Given the description of an element on the screen output the (x, y) to click on. 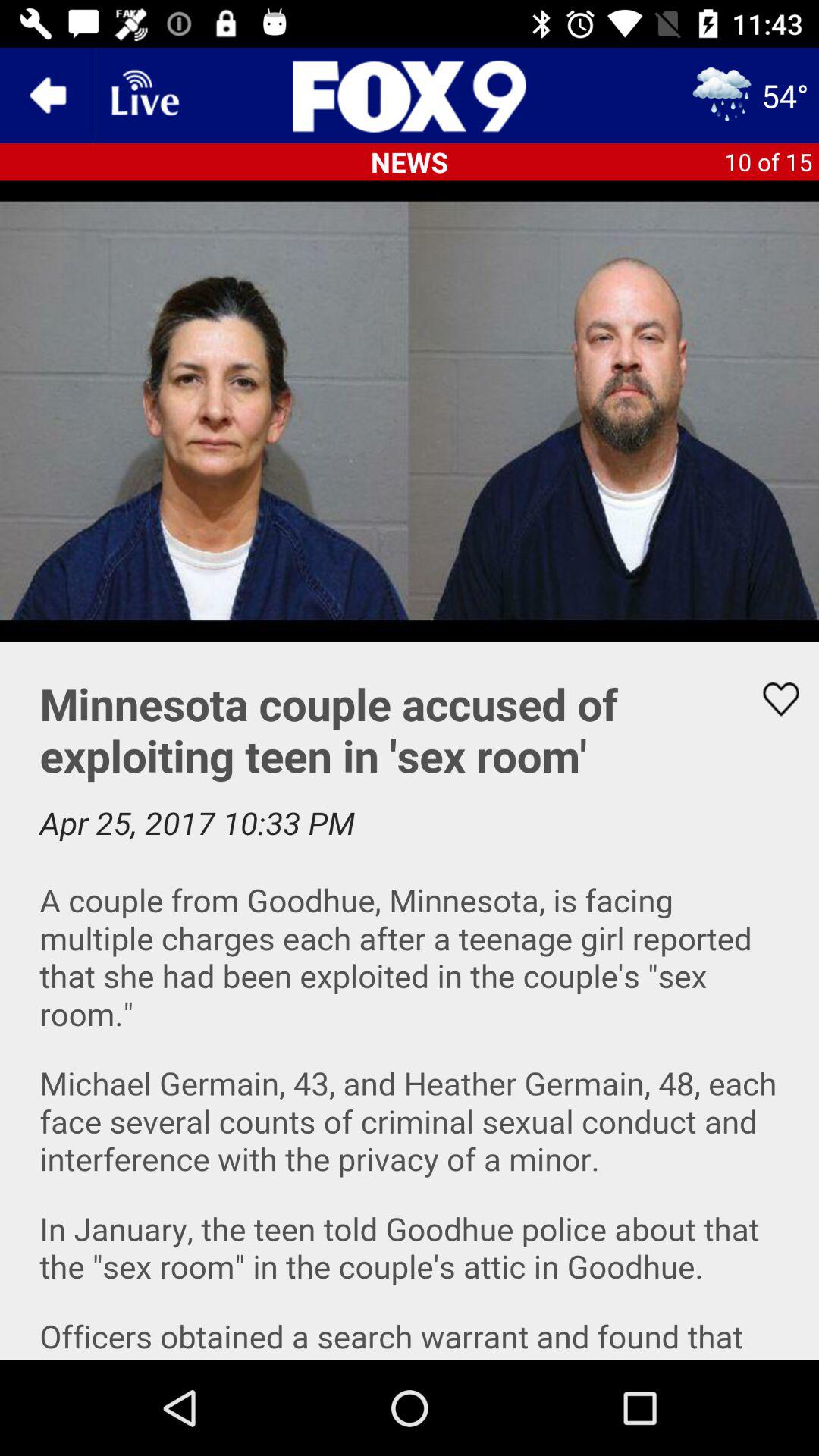
go homepage (409, 95)
